Given the description of an element on the screen output the (x, y) to click on. 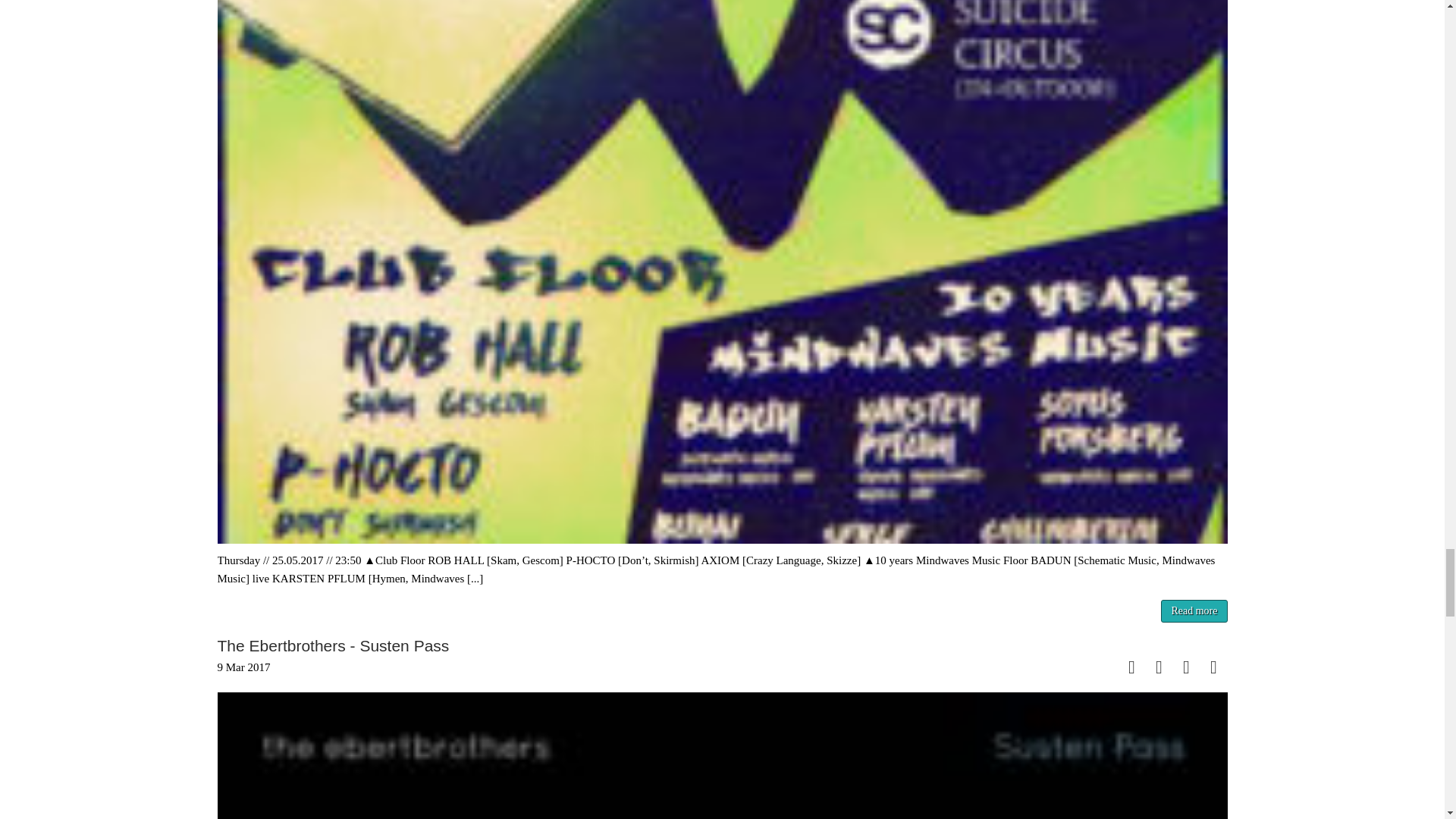
The Ebertbrothers - Susten Pass (721, 755)
